Given the description of an element on the screen output the (x, y) to click on. 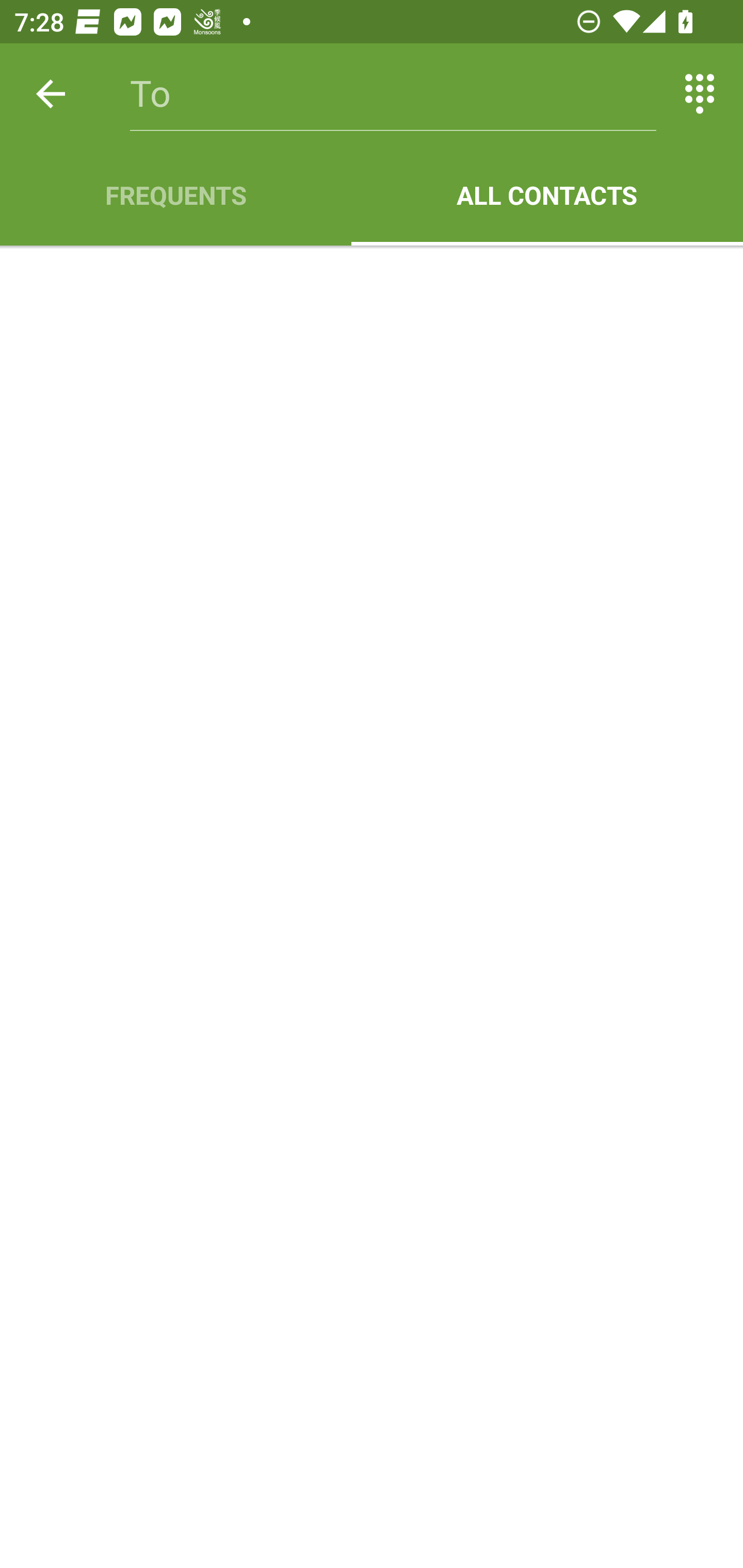
Back (50, 93)
Switch between entering text and numbers (699, 93)
To (393, 93)
FREQUENTS (175, 195)
ALL CONTACTS (547, 195)
